Given the description of an element on the screen output the (x, y) to click on. 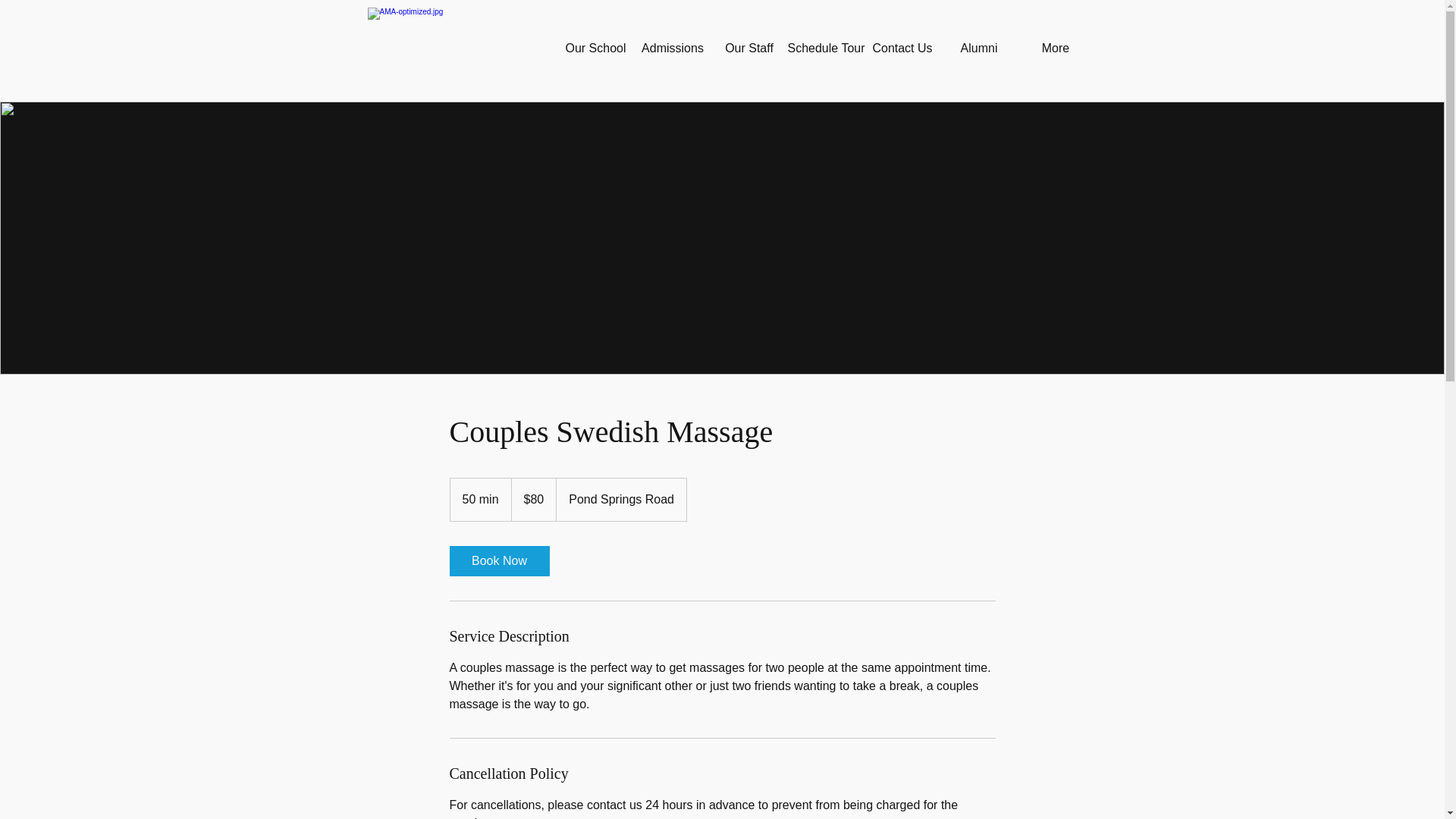
Contact Us (902, 48)
Book Now (498, 561)
Alumni (978, 48)
Schedule Tour (825, 48)
Click to go home (457, 48)
Our Staff (749, 48)
